Given the description of an element on the screen output the (x, y) to click on. 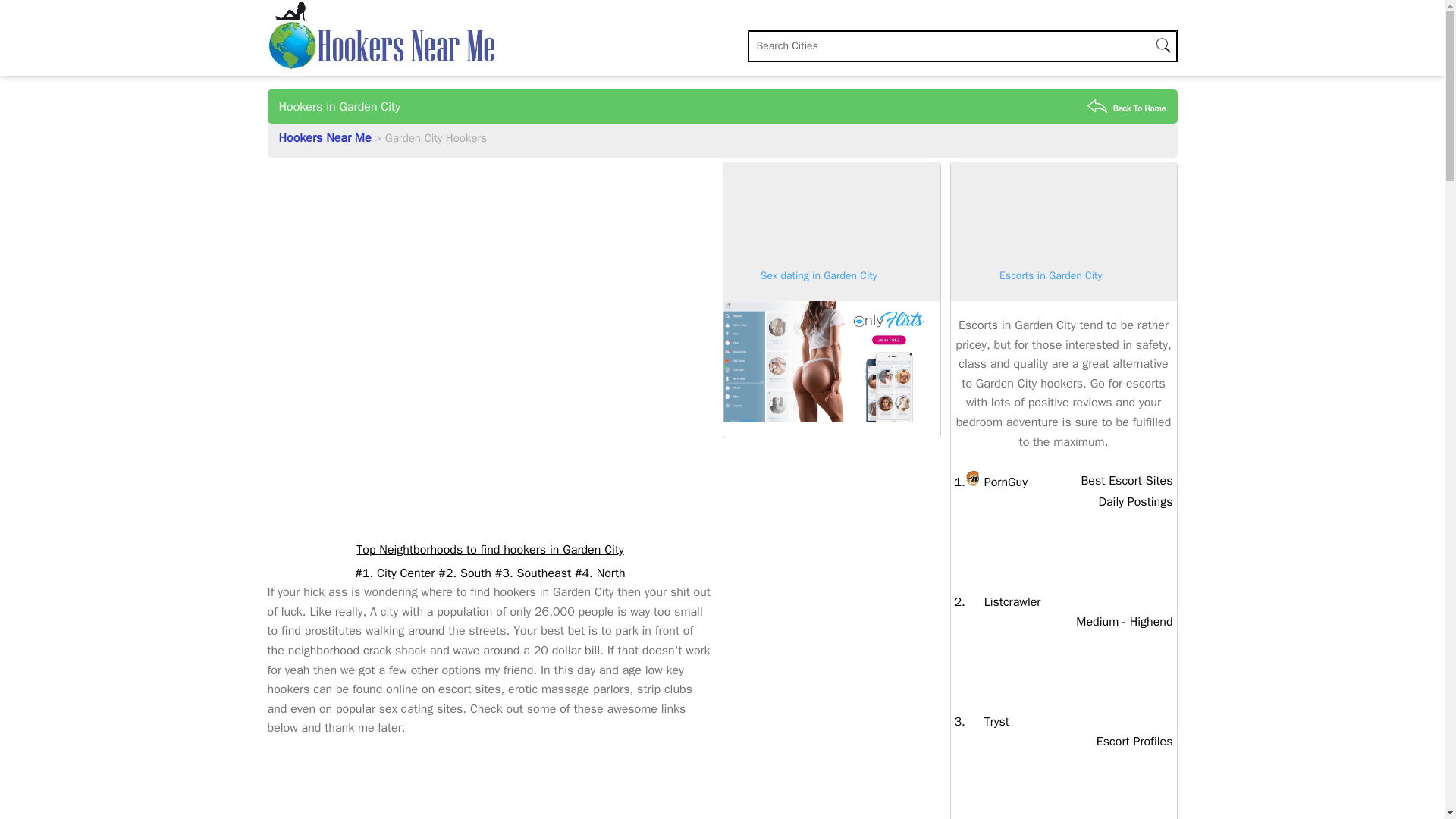
Hookers Near Me  (327, 137)
Back To Home (1003, 601)
Garden City, Kansas (987, 721)
Search (1126, 108)
